Given the description of an element on the screen output the (x, y) to click on. 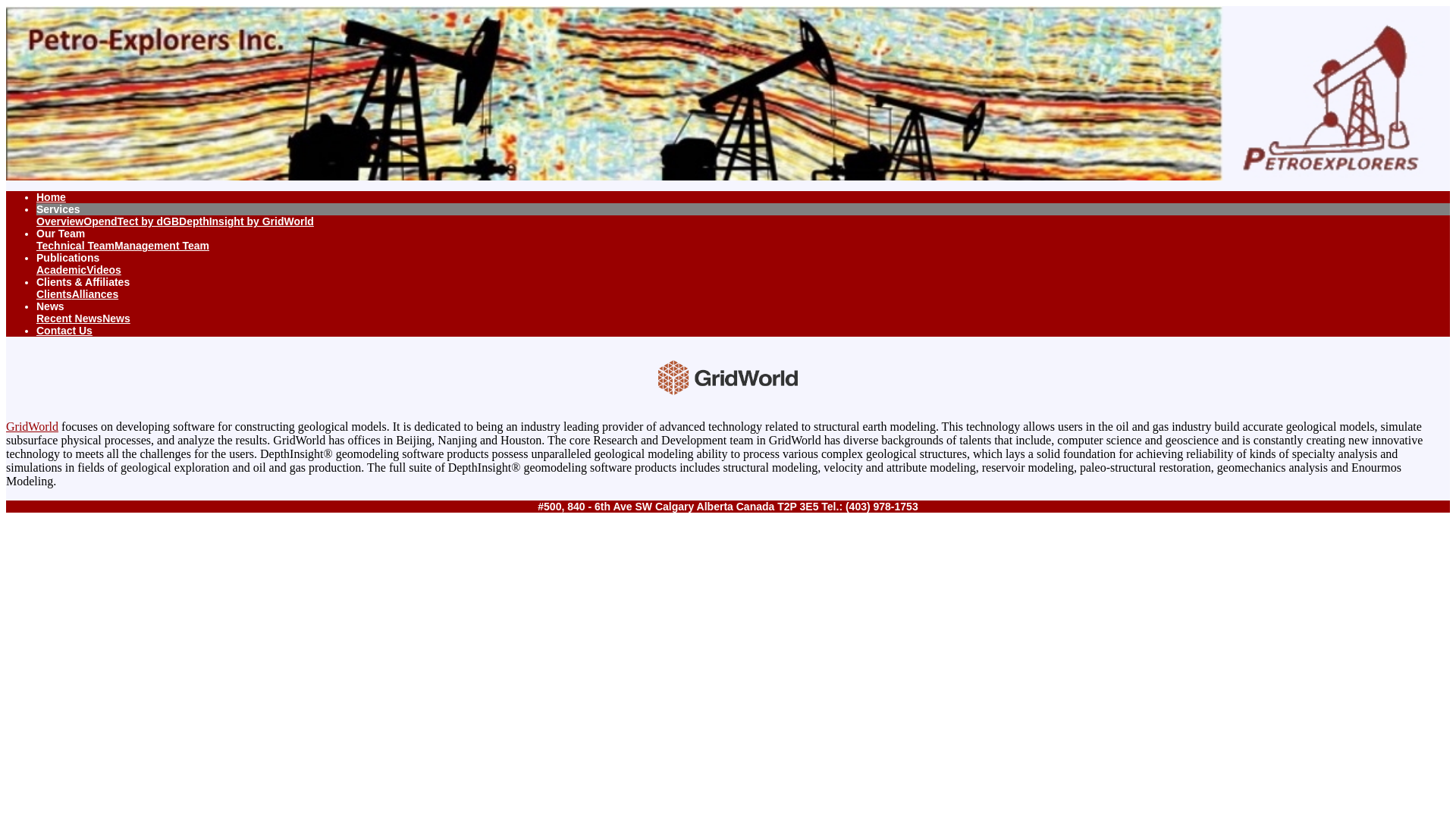
Services (58, 209)
Technical Team (75, 245)
GridWorld (31, 426)
Publications (67, 257)
News (116, 318)
Management Team (162, 245)
DepthInsight by GridWorld (246, 221)
OpendTect by dGB (130, 221)
Academic (60, 269)
Clients (53, 294)
Contact Us (64, 330)
Overview (59, 221)
Alliances (94, 294)
Home (50, 196)
Our Team (60, 233)
